Given the description of an element on the screen output the (x, y) to click on. 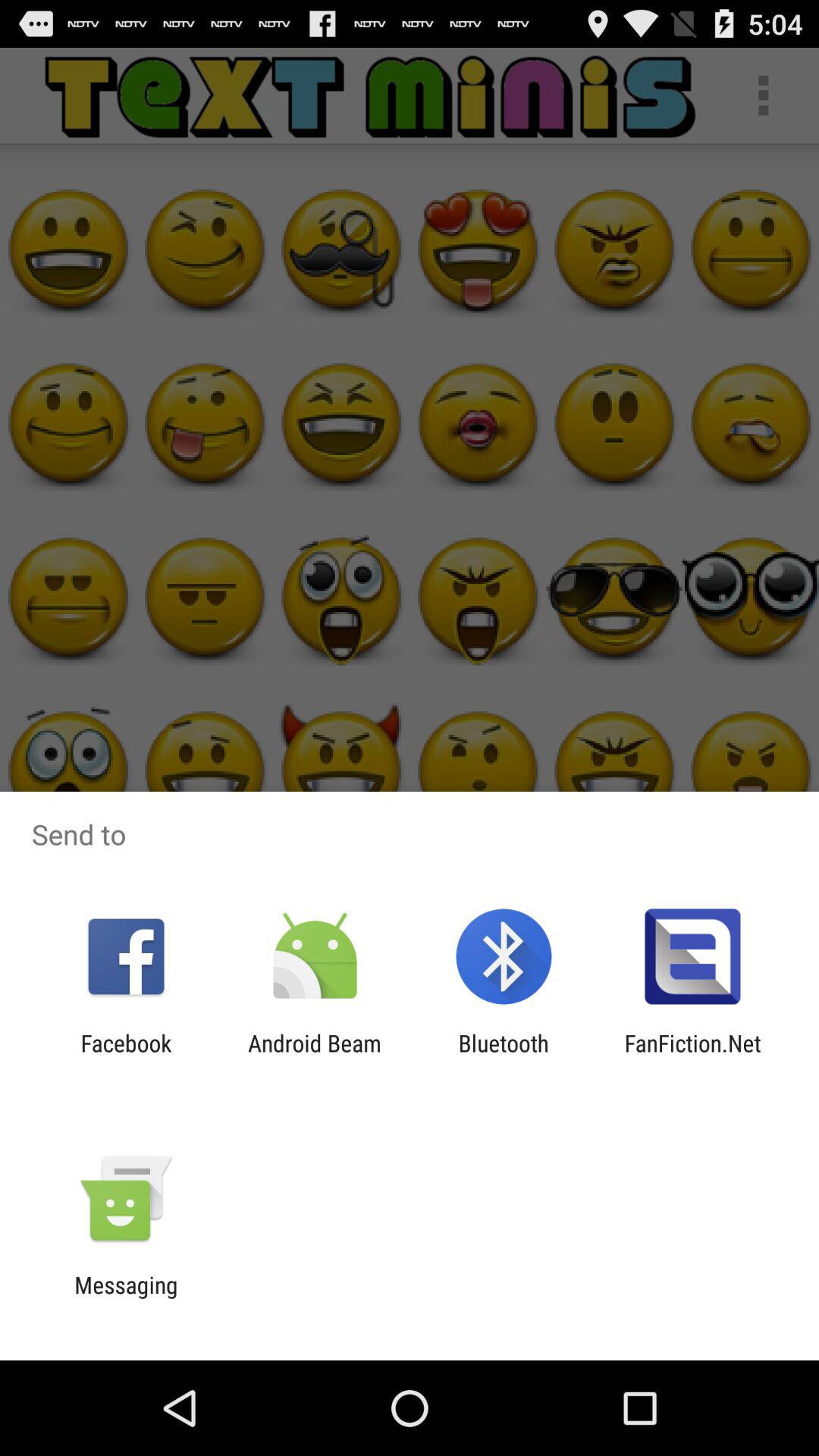
tap the app next to bluetooth app (314, 1056)
